Given the description of an element on the screen output the (x, y) to click on. 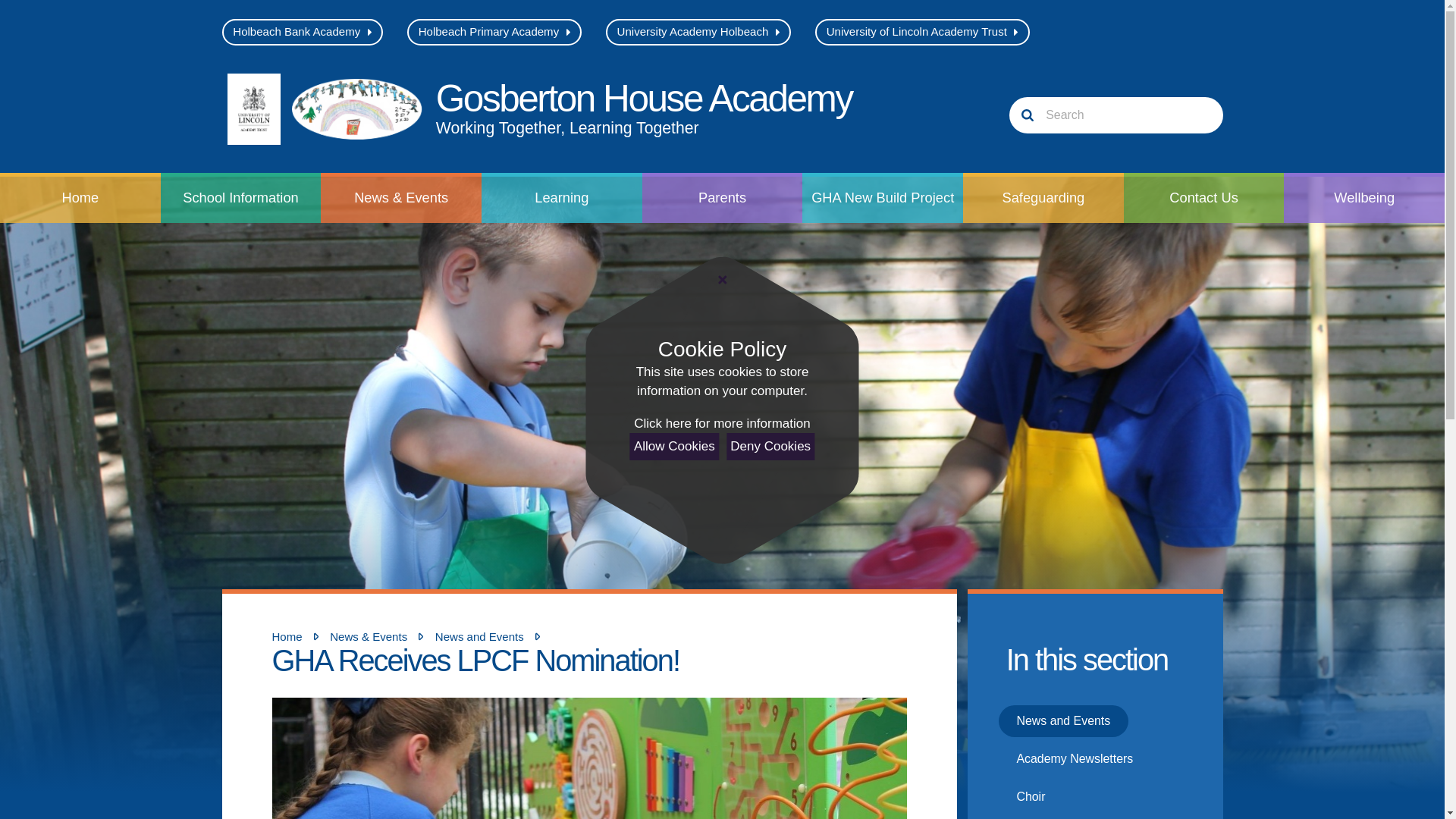
Holbeach Primary Academy (493, 31)
University Academy Holbeach (540, 108)
University of Lincoln Academy Trust (697, 31)
Deny Cookies (922, 31)
See cookie policy (769, 446)
Holbeach Bank Academy (721, 424)
School Information (301, 31)
Allow Cookies (240, 197)
Home (674, 446)
